Given the description of an element on the screen output the (x, y) to click on. 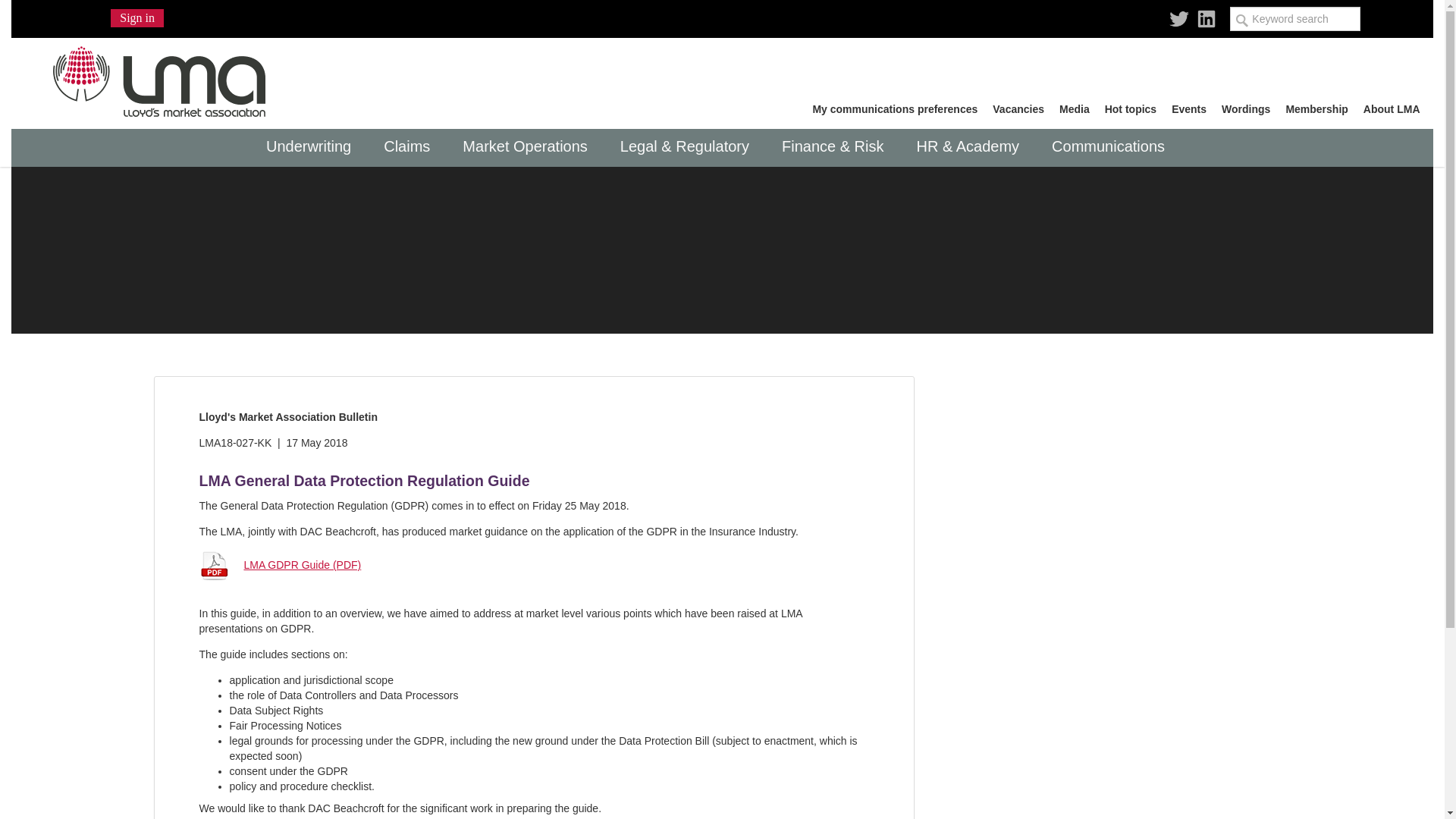
Visit our LinkedIn page (1205, 13)
My communications preferences (895, 109)
About LMA (1391, 109)
Underwriting (312, 146)
Market Operations (529, 146)
Keyword search (1294, 18)
Media (1074, 109)
Home (162, 77)
Wordings (1246, 109)
Visit our Twitter page (1179, 13)
Events (1188, 109)
Vacancies (1018, 109)
Keyword search (1294, 18)
Sign in (136, 18)
iMIS (162, 77)
